Given the description of an element on the screen output the (x, y) to click on. 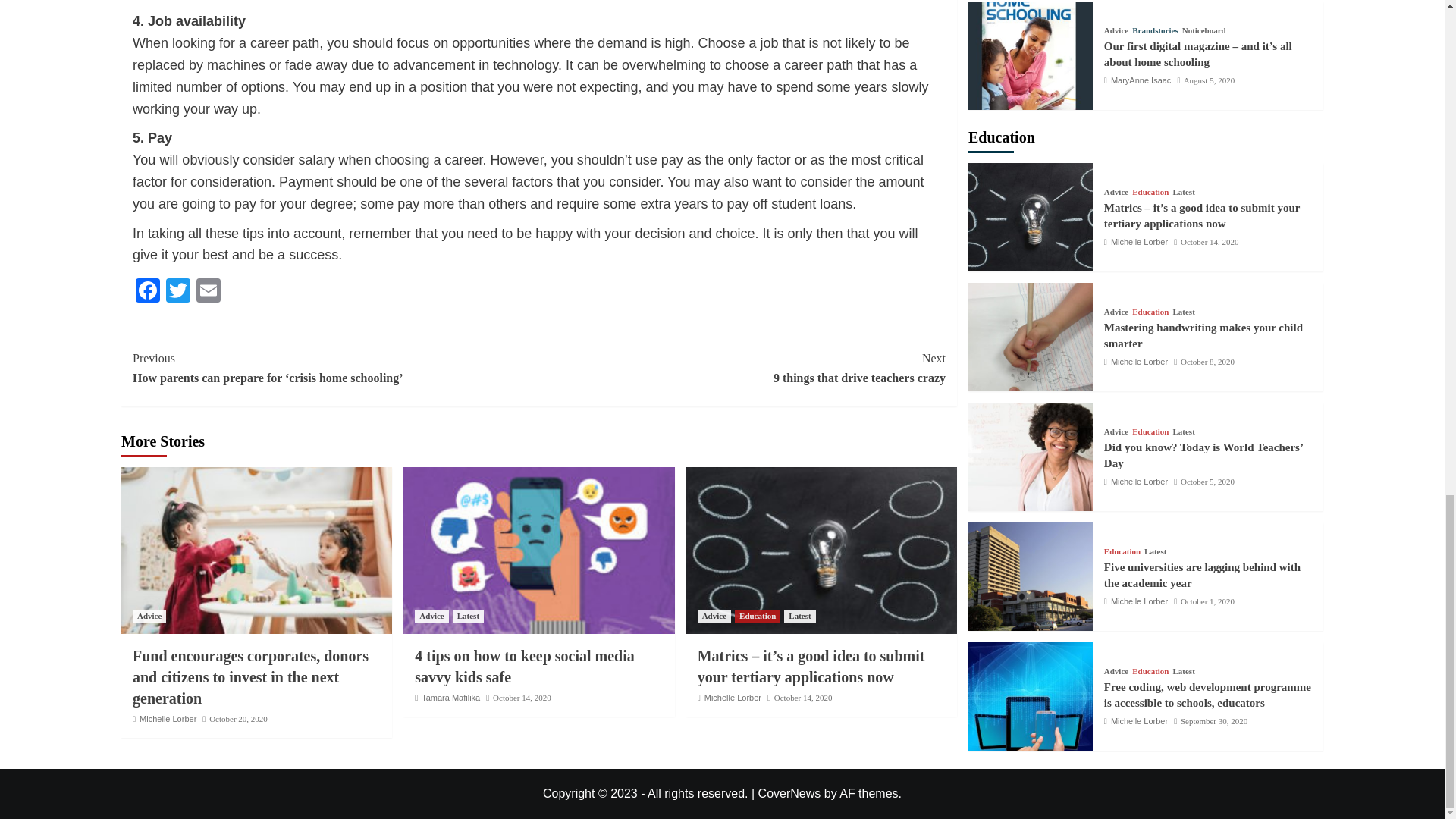
Twitter (178, 292)
Advice (148, 615)
October 14, 2020 (522, 696)
Advice (431, 615)
Latest (467, 615)
4 tips on how to keep social media savvy kids safe (523, 666)
Facebook (147, 292)
October 20, 2020 (238, 718)
Facebook (147, 292)
Michelle Lorber (167, 718)
Advice (713, 615)
Email (208, 292)
Twitter (178, 292)
